Given the description of an element on the screen output the (x, y) to click on. 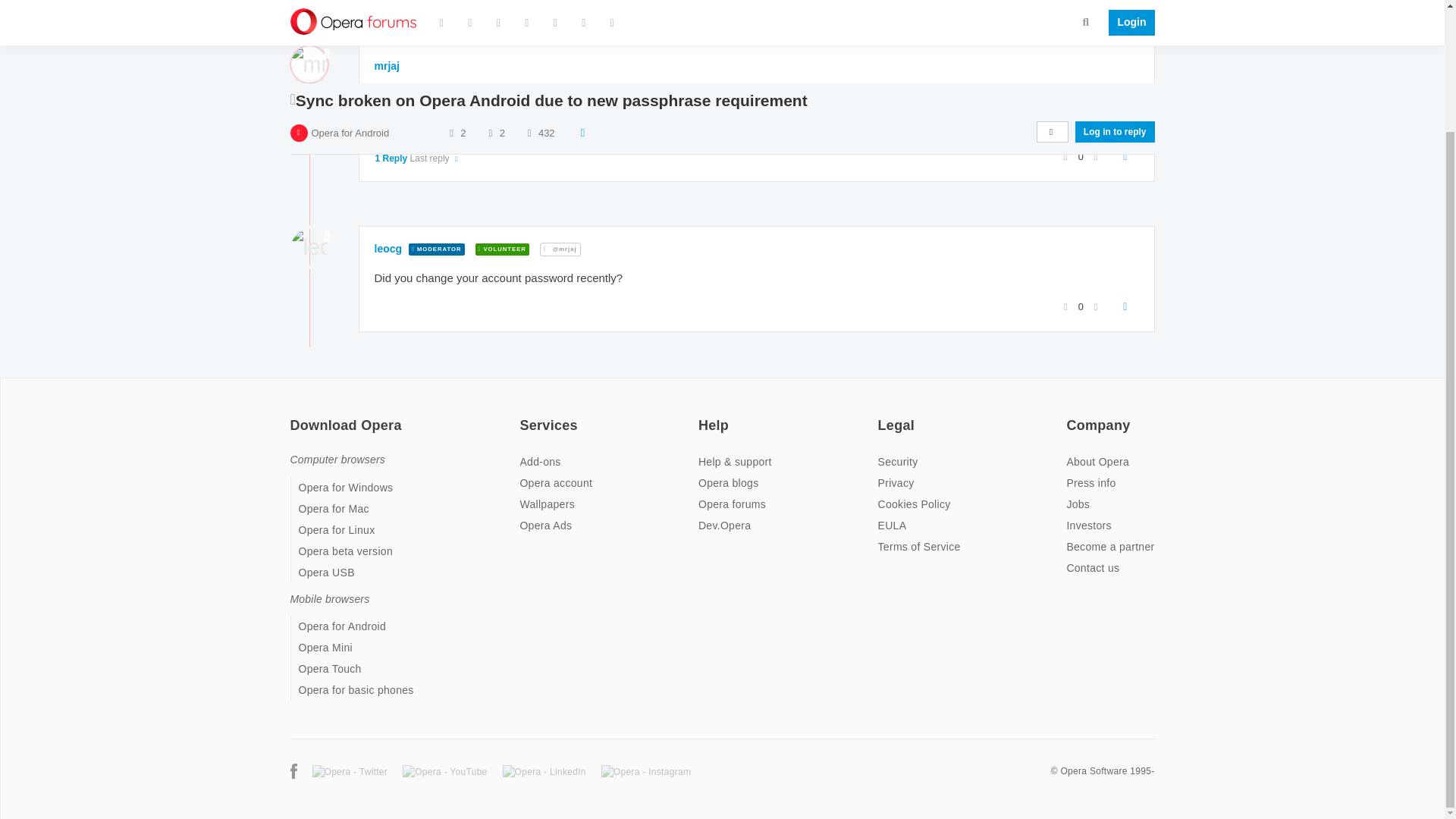
on (1070, 415)
Log in to reply (1114, 9)
on (881, 415)
Posts (490, 9)
mrjaj (386, 65)
Opera for Android (349, 9)
Views (528, 9)
on (523, 415)
Posters (451, 9)
1 Reply Last reply (416, 158)
